Given the description of an element on the screen output the (x, y) to click on. 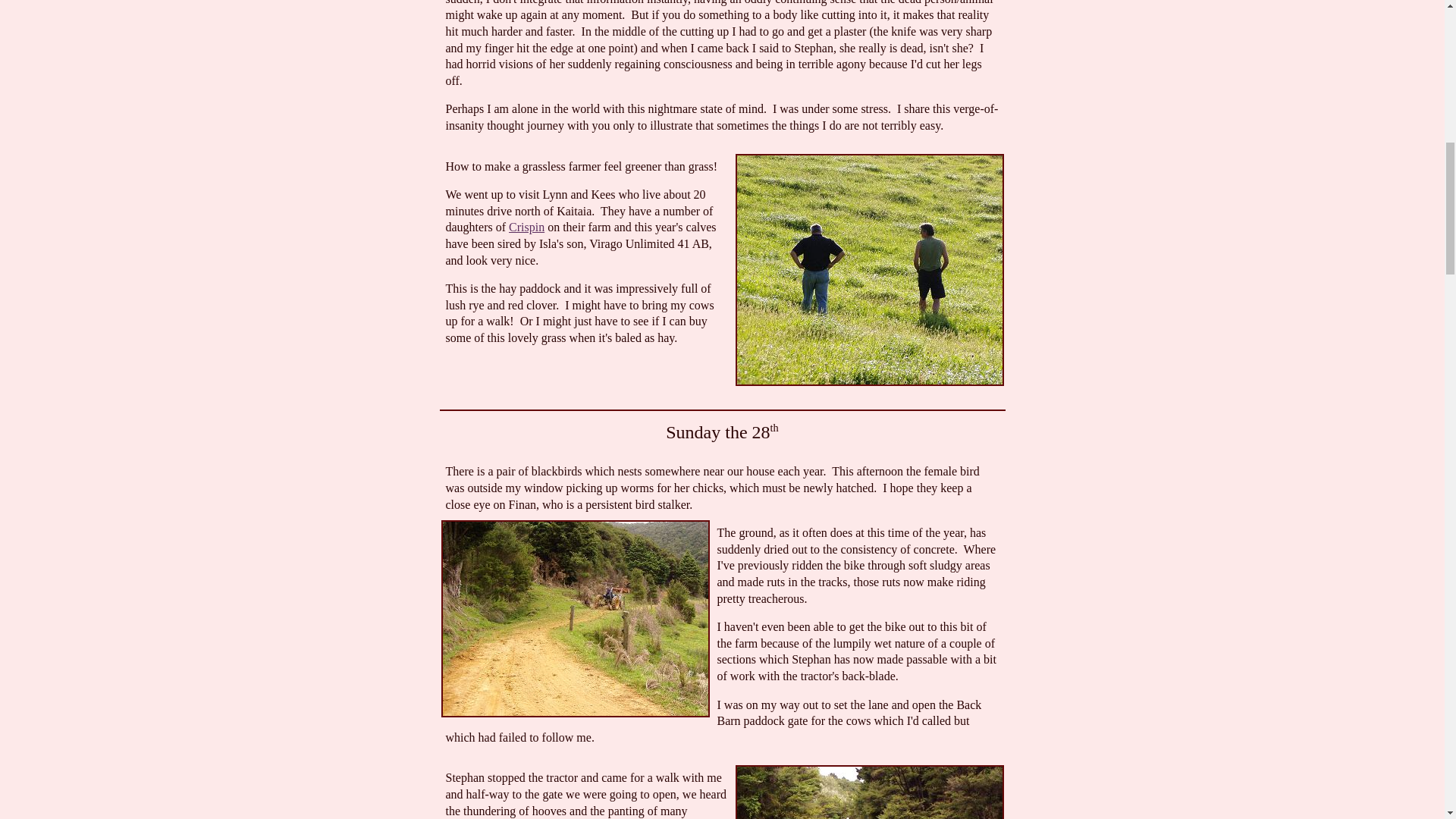
cattle on the move (869, 791)
hay paddock (869, 269)
track maintenance (575, 618)
Crispin (526, 226)
